Given the description of an element on the screen output the (x, y) to click on. 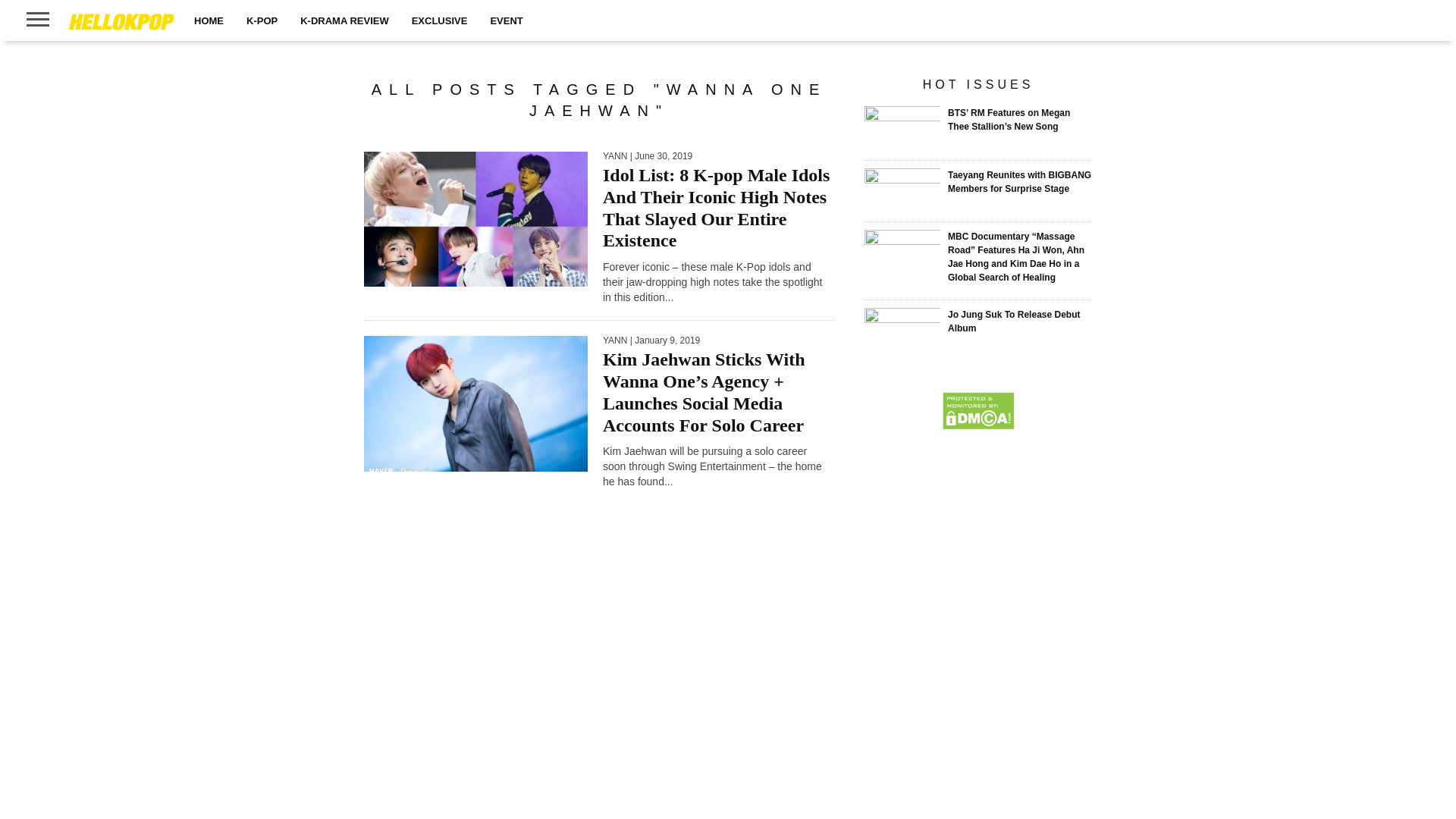
HOME (208, 20)
DMCA.com Protection Status (977, 425)
EVENT (506, 20)
EXCLUSIVE (439, 20)
K-POP (261, 20)
K-DRAMA REVIEW (344, 20)
